Given the description of an element on the screen output the (x, y) to click on. 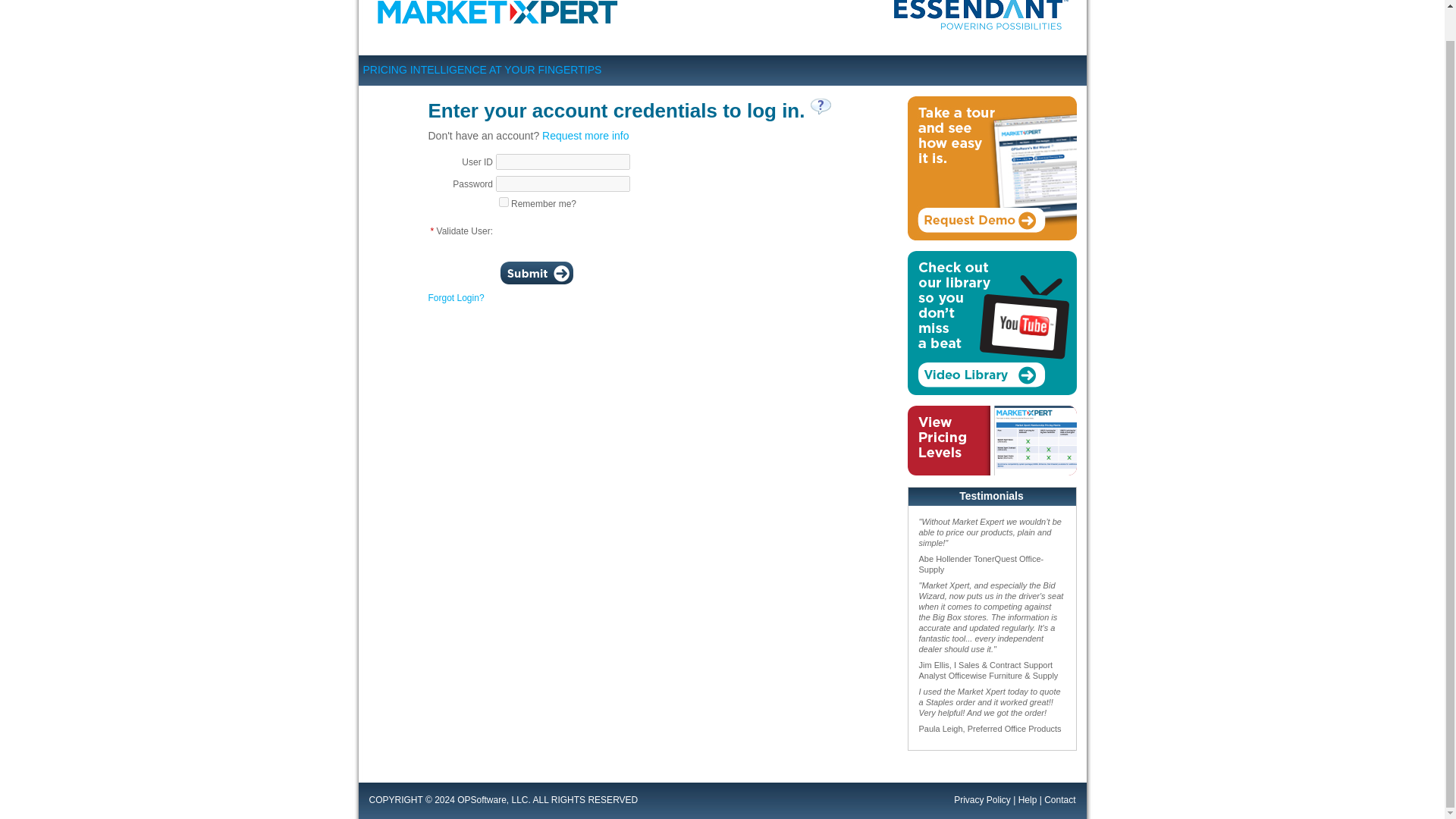
Market Xpert (500, 18)
true (503, 202)
Forgot Login? (455, 297)
Request more info (584, 135)
